Given the description of an element on the screen output the (x, y) to click on. 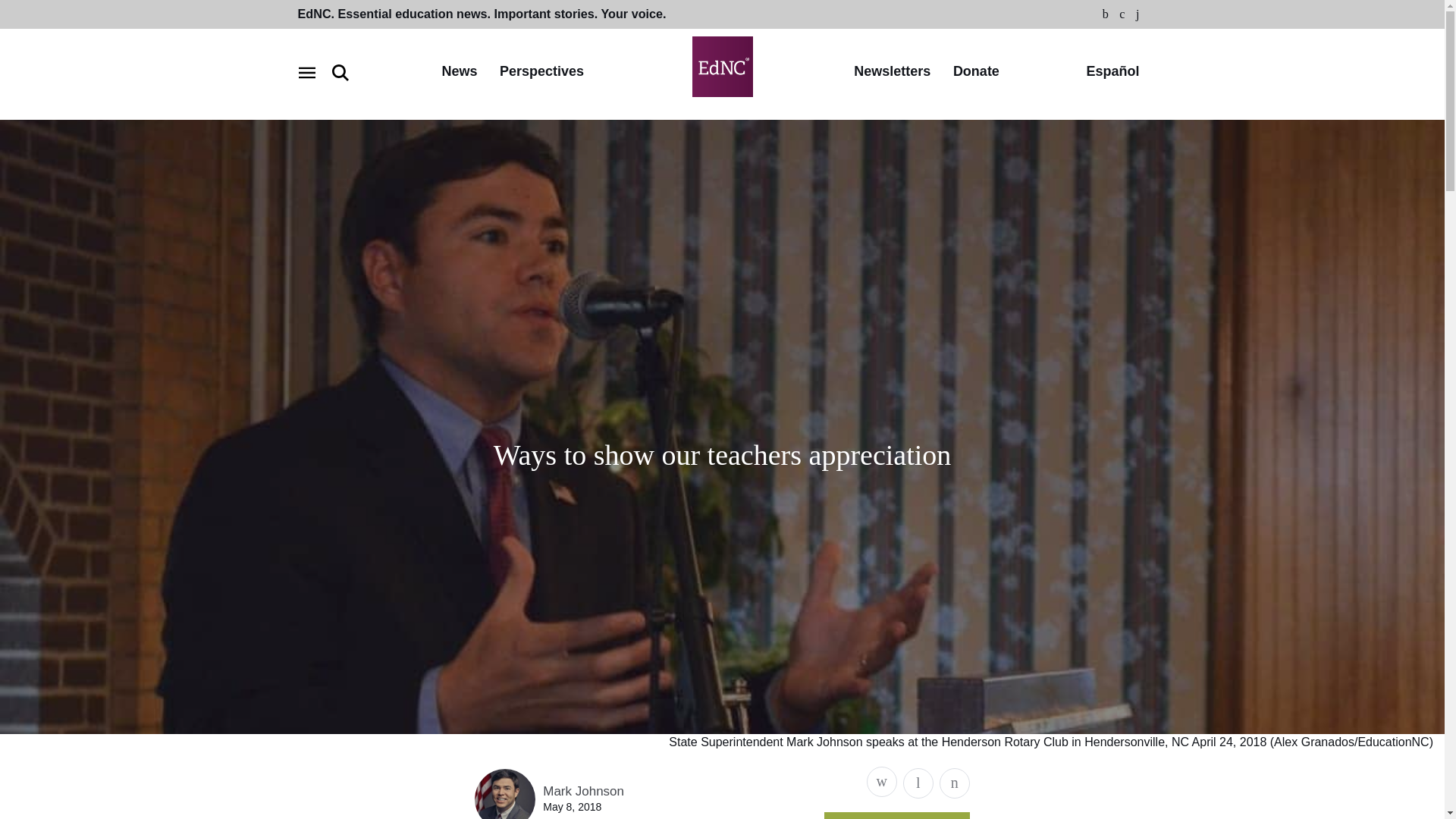
Donate (975, 71)
News (459, 71)
Open navigation (306, 72)
Perspectives (541, 71)
Newsletters (891, 71)
Mark Johnson (583, 790)
Share this page (881, 781)
